Given the description of an element on the screen output the (x, y) to click on. 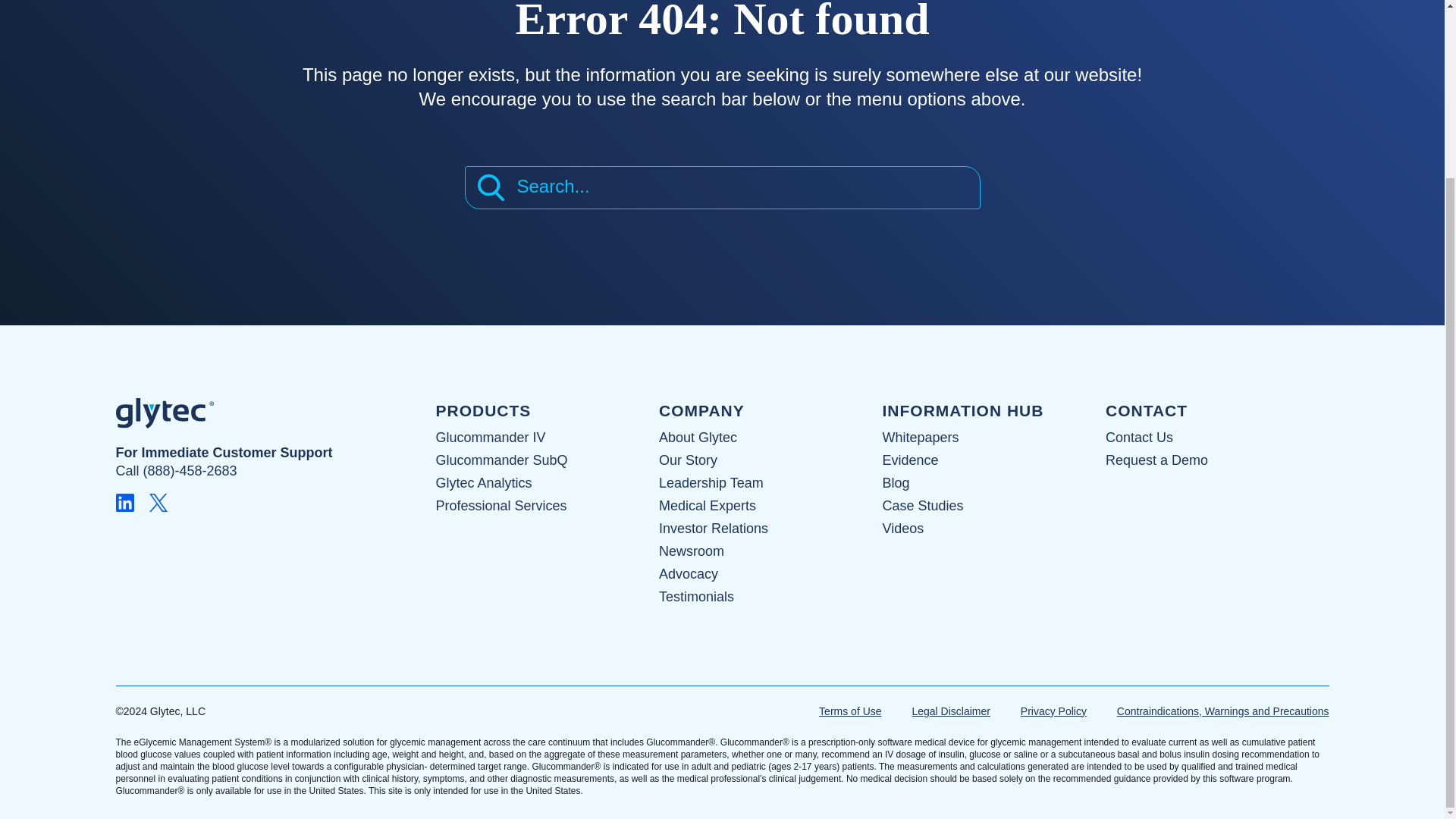
Glucommander IV (489, 437)
PRODUCTS (483, 410)
Professional Services (500, 505)
Glytec Analytics (483, 482)
Glucommander SubQ (501, 459)
